Given the description of an element on the screen output the (x, y) to click on. 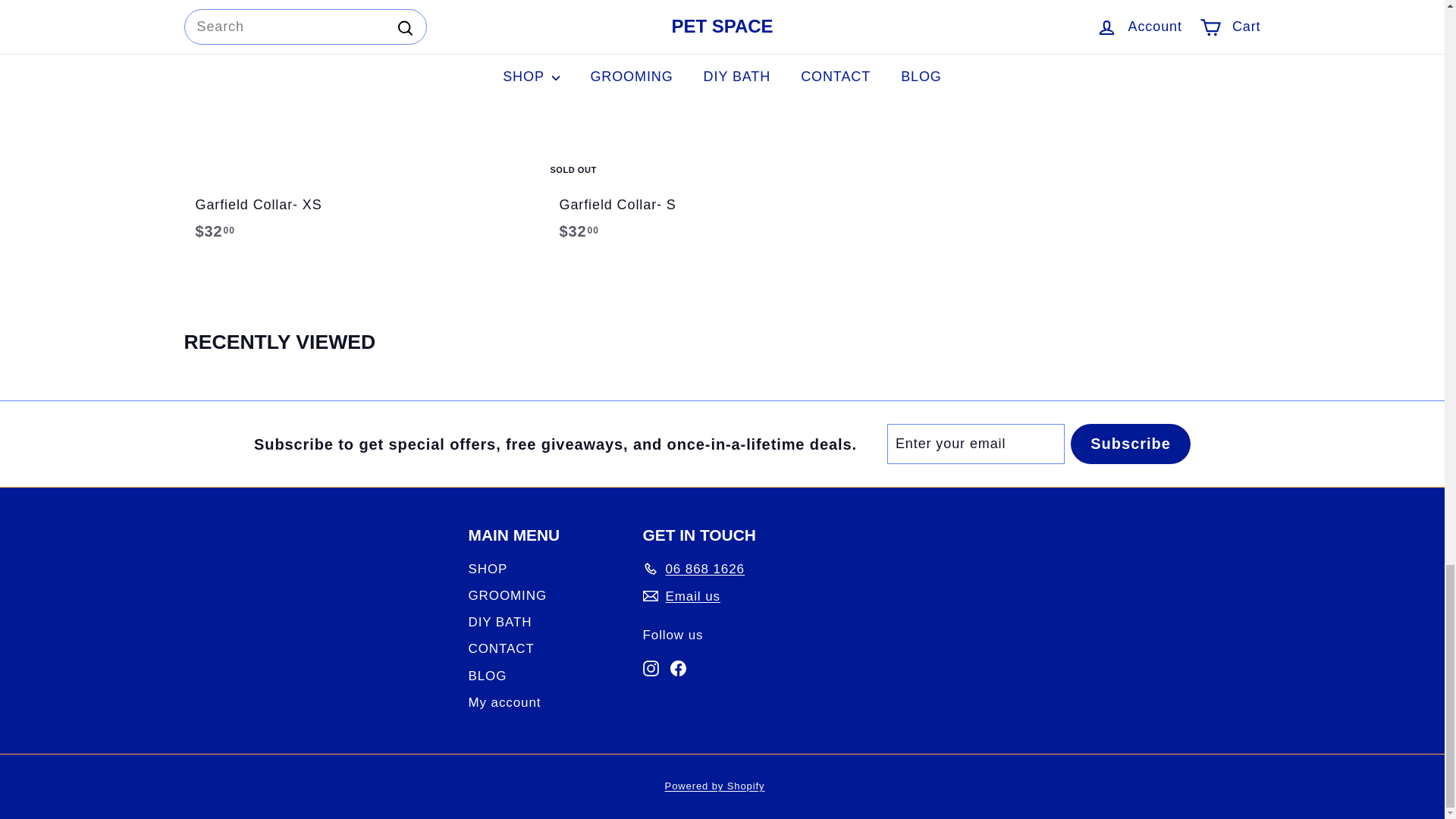
instagram (651, 668)
